Given the description of an element on the screen output the (x, y) to click on. 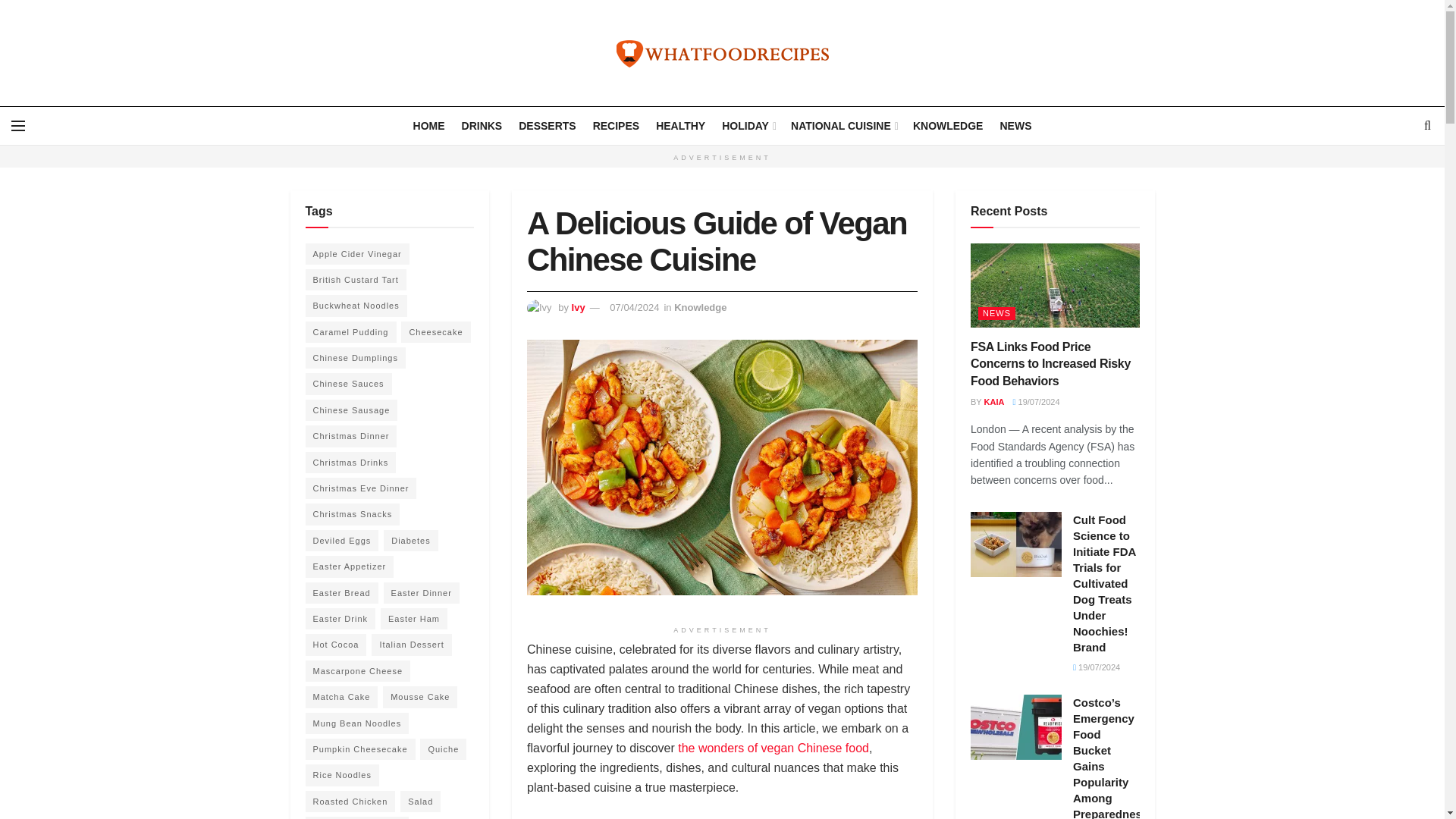
DRINKS (481, 125)
RECIPES (615, 125)
Knowledge (700, 307)
NEWS (1014, 125)
HOME (429, 125)
KNOWLEDGE (948, 125)
Ivy (578, 307)
DESSERTS (546, 125)
HOLIDAY (748, 125)
the wonders of vegan Chinese food (773, 748)
HEALTHY (680, 125)
NATIONAL CUISINE (843, 125)
